Given the description of an element on the screen output the (x, y) to click on. 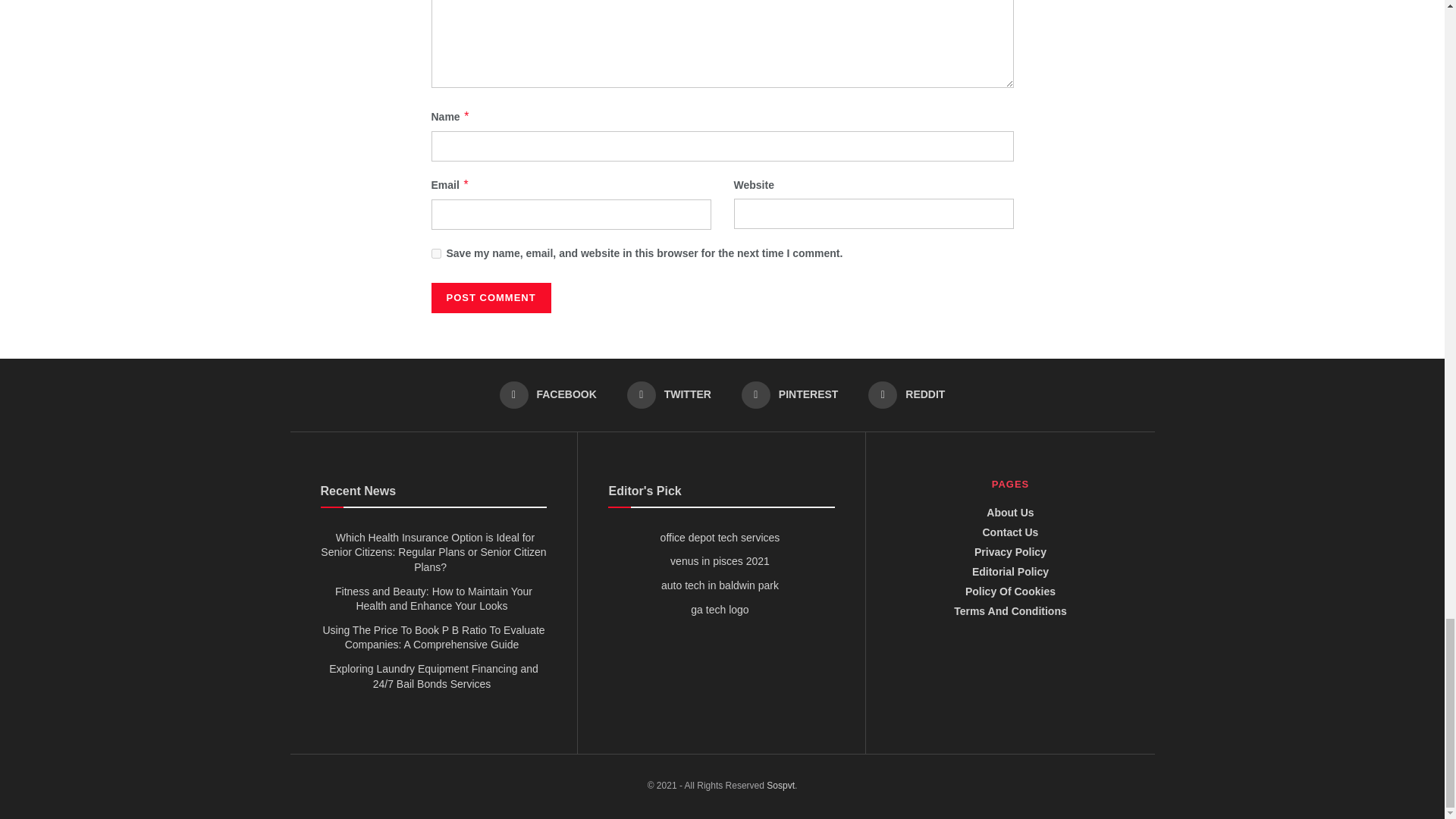
Post Comment (490, 297)
yes (435, 253)
Sospvt (780, 785)
